Given the description of an element on the screen output the (x, y) to click on. 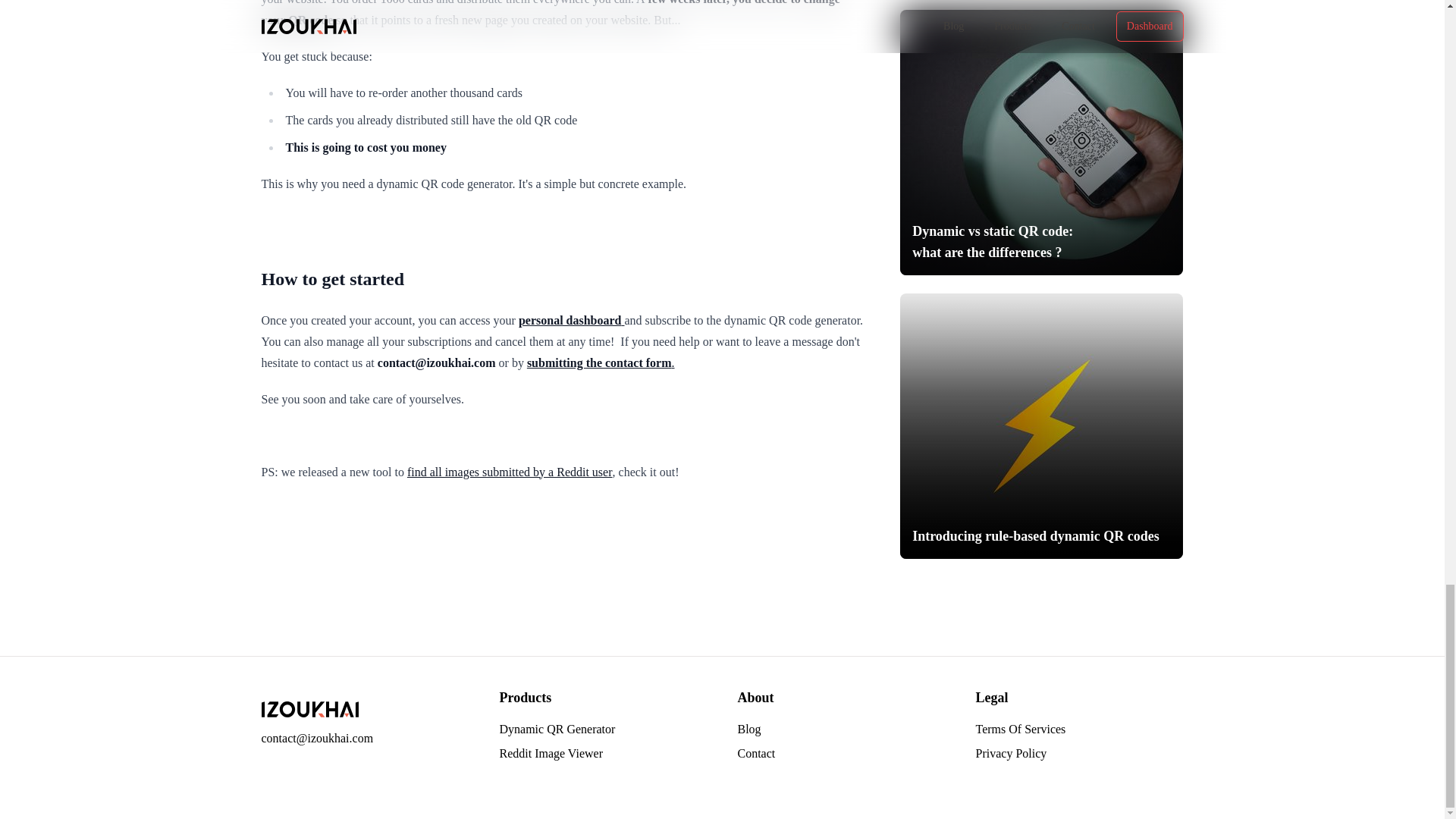
Reddit Image Viewer (550, 753)
Privacy Policy (1010, 753)
Introducing rule-based dynamic QR codes (1040, 425)
submitting the contact form. (601, 361)
Dynamic vs static QR code: what are the differences ? (1040, 142)
Dynamic QR Generator (556, 728)
Contact (755, 753)
Blog (748, 728)
Terms Of Services (1020, 728)
find all images submitted by a Reddit user (509, 471)
